Given the description of an element on the screen output the (x, y) to click on. 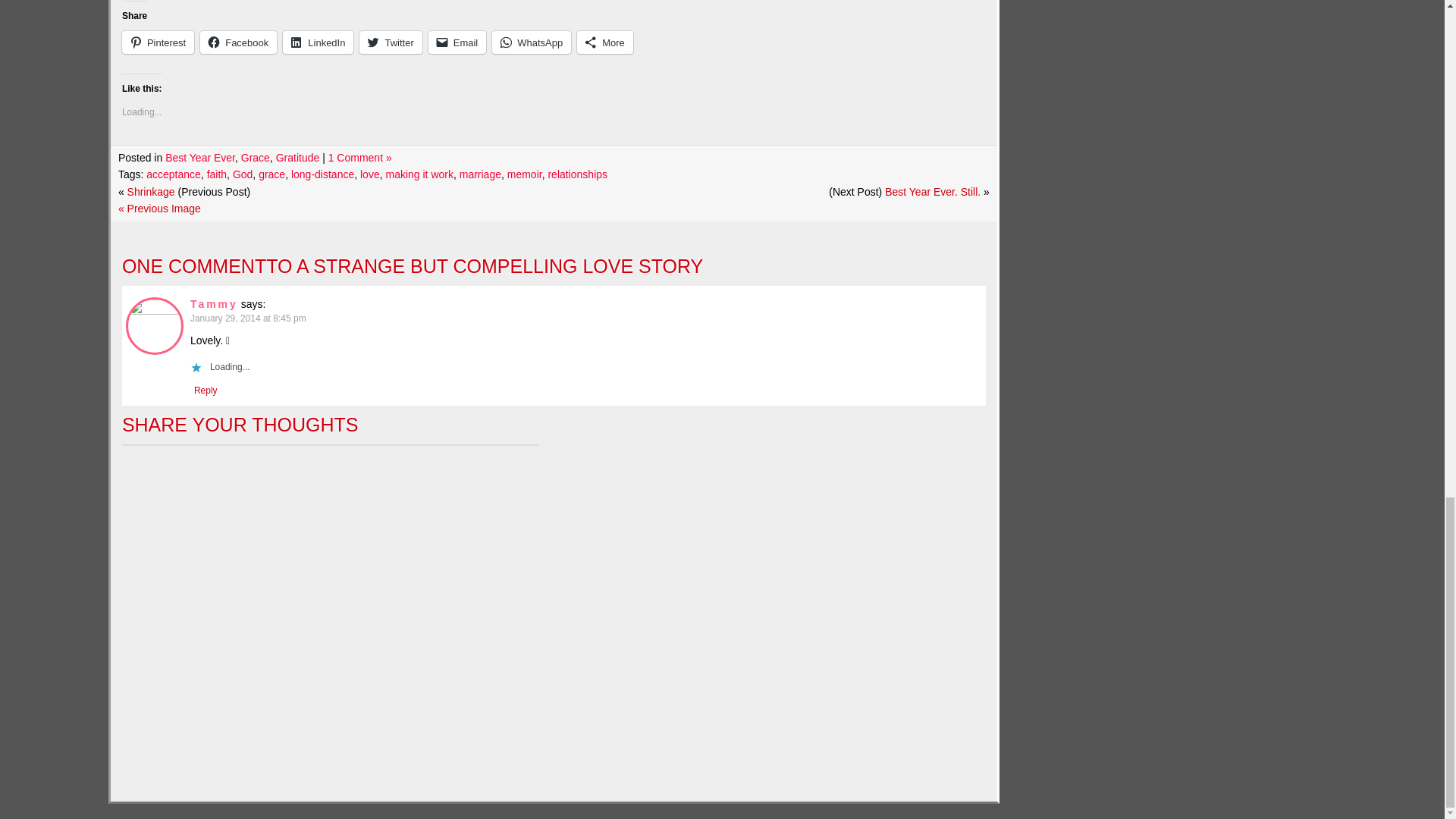
Click to email a link to a friend (457, 42)
Click to share on Twitter (390, 42)
Click to share on Facebook (238, 42)
Click to share on Pinterest (157, 42)
Click to share on LinkedIn (317, 42)
Click to share on WhatsApp (531, 42)
